Given the description of an element on the screen output the (x, y) to click on. 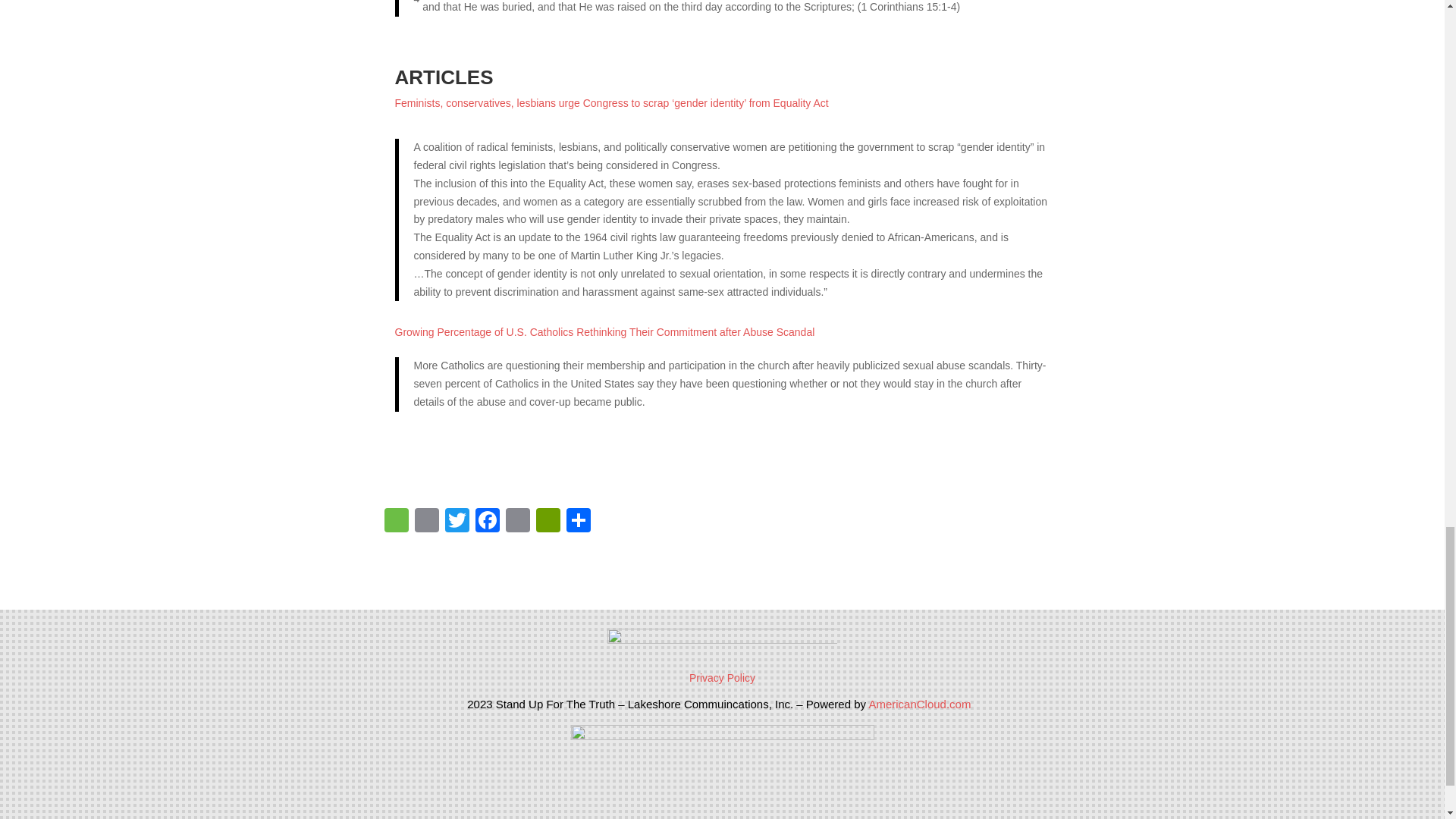
Copy Link (425, 521)
Facebook (486, 521)
Email (517, 521)
PrintFriendly (547, 521)
Message (395, 521)
Twitter (456, 521)
